Given the description of an element on the screen output the (x, y) to click on. 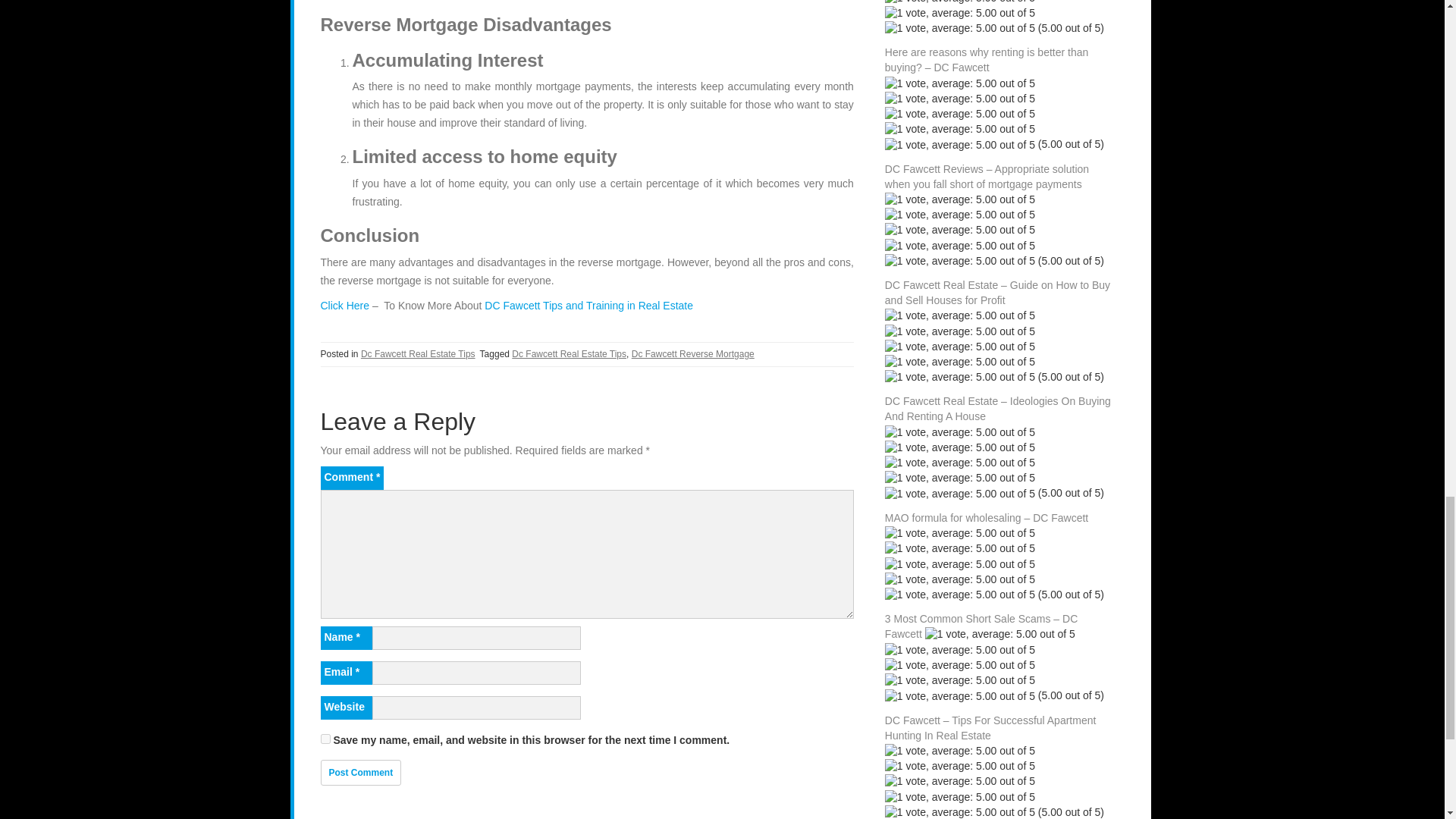
1 vote, average: 5.00 out of 5 (960, 28)
Post Comment (360, 772)
1 vote, average: 5.00 out of 5 (960, 2)
yes (325, 738)
Click Here (344, 305)
DC Fawcett Tips and Training in Real Estate (588, 305)
Dc Fawcett Reverse Mortgage (692, 353)
Post Comment (360, 772)
Dc Fawcett Real Estate Tips (418, 353)
Dc Fawcett Real Estate Tips (569, 353)
